Given the description of an element on the screen output the (x, y) to click on. 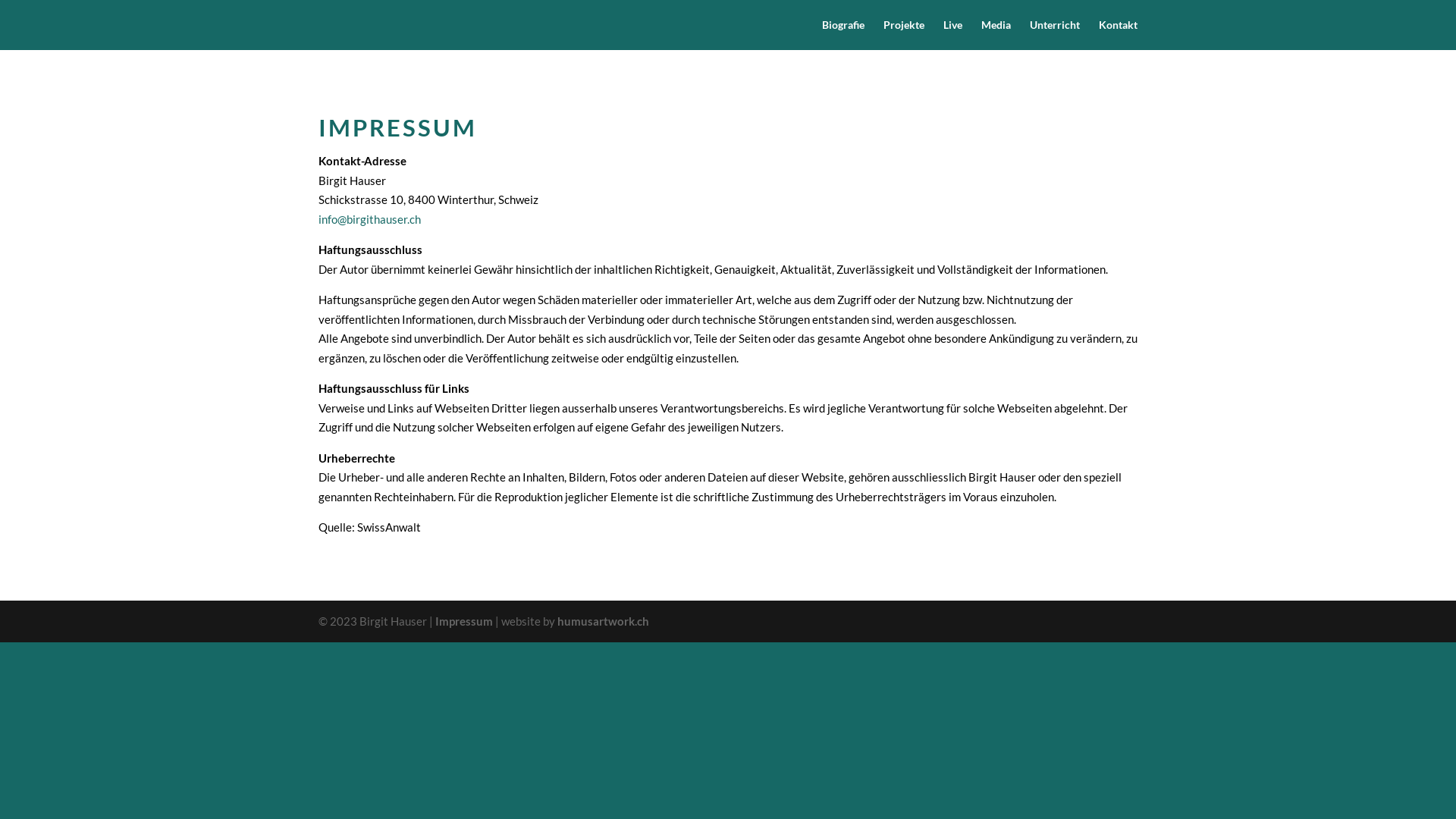
info@birgithauser.ch Element type: text (369, 218)
Impressum Element type: text (463, 620)
humusartwork.ch Element type: text (603, 620)
Media Element type: text (995, 34)
Unterricht Element type: text (1054, 34)
Live Element type: text (952, 34)
Biografie Element type: text (843, 34)
Projekte Element type: text (903, 34)
Kontakt Element type: text (1117, 34)
